Given the description of an element on the screen output the (x, y) to click on. 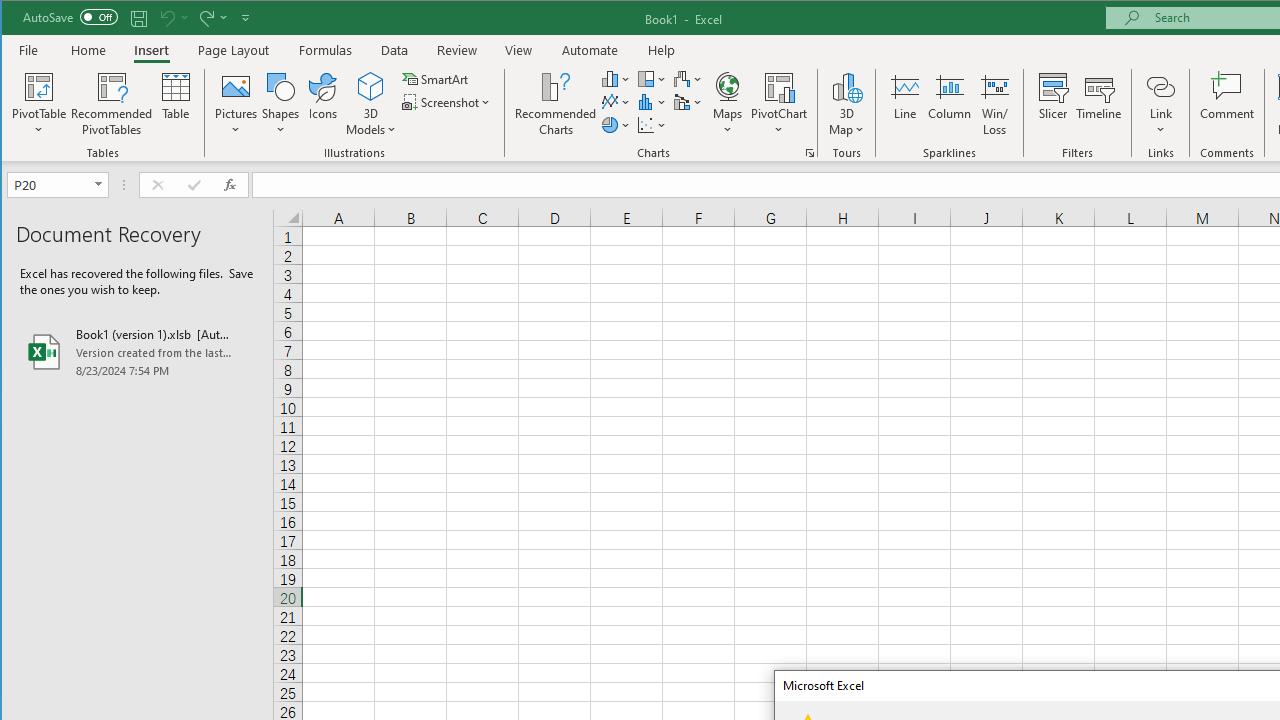
Link (1160, 104)
Insert Combo Chart (688, 101)
Maps (727, 104)
Table (175, 104)
Timeline (1098, 104)
Shapes (280, 104)
Automate (589, 50)
Recommended Charts (809, 152)
AutoSave (70, 16)
Screenshot (447, 101)
3D Map (846, 104)
